Given the description of an element on the screen output the (x, y) to click on. 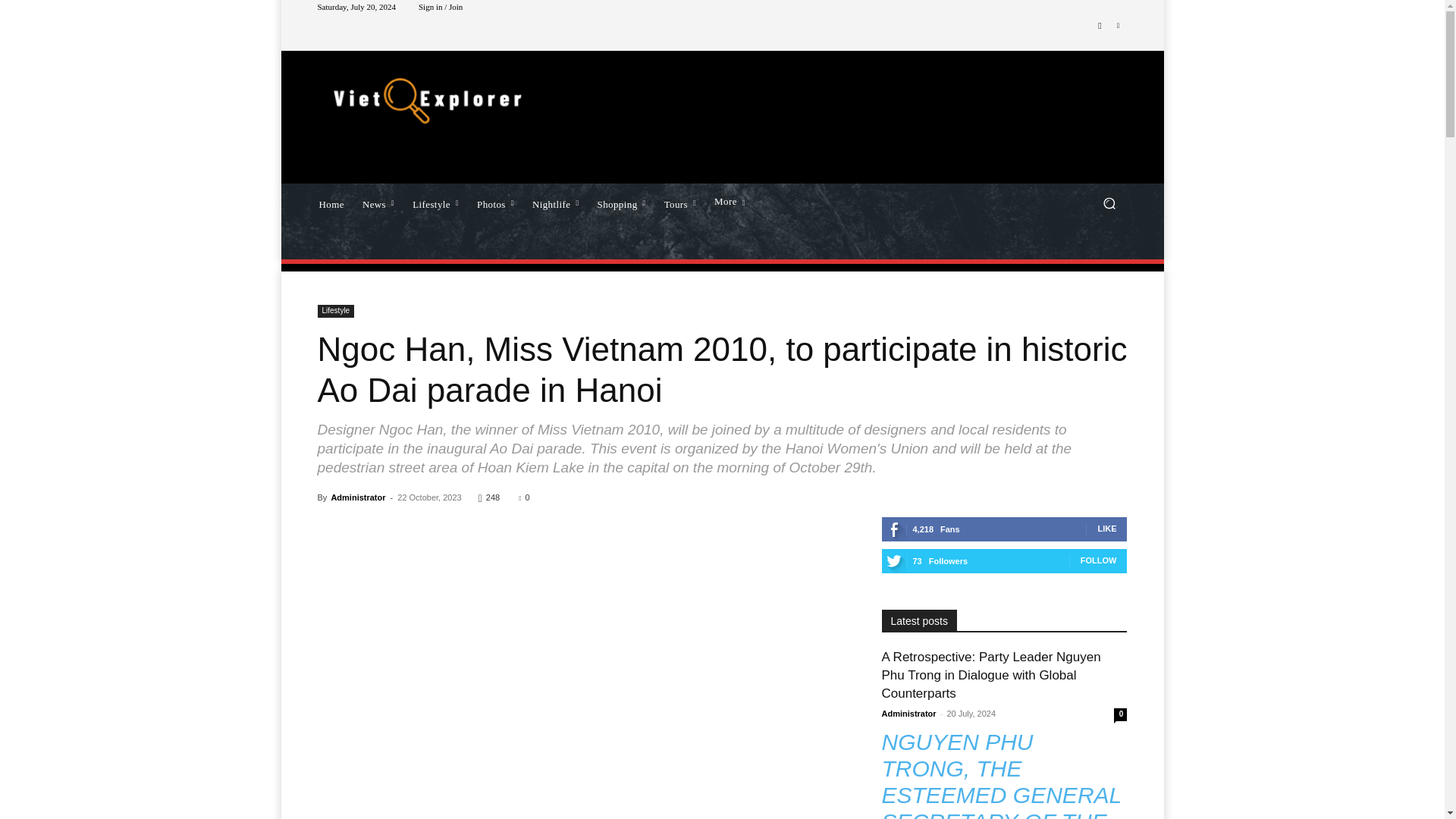
News (378, 202)
Lifestyle (435, 202)
Twitter (1117, 25)
Facebook (1099, 25)
Home (330, 202)
